Given the description of an element on the screen output the (x, y) to click on. 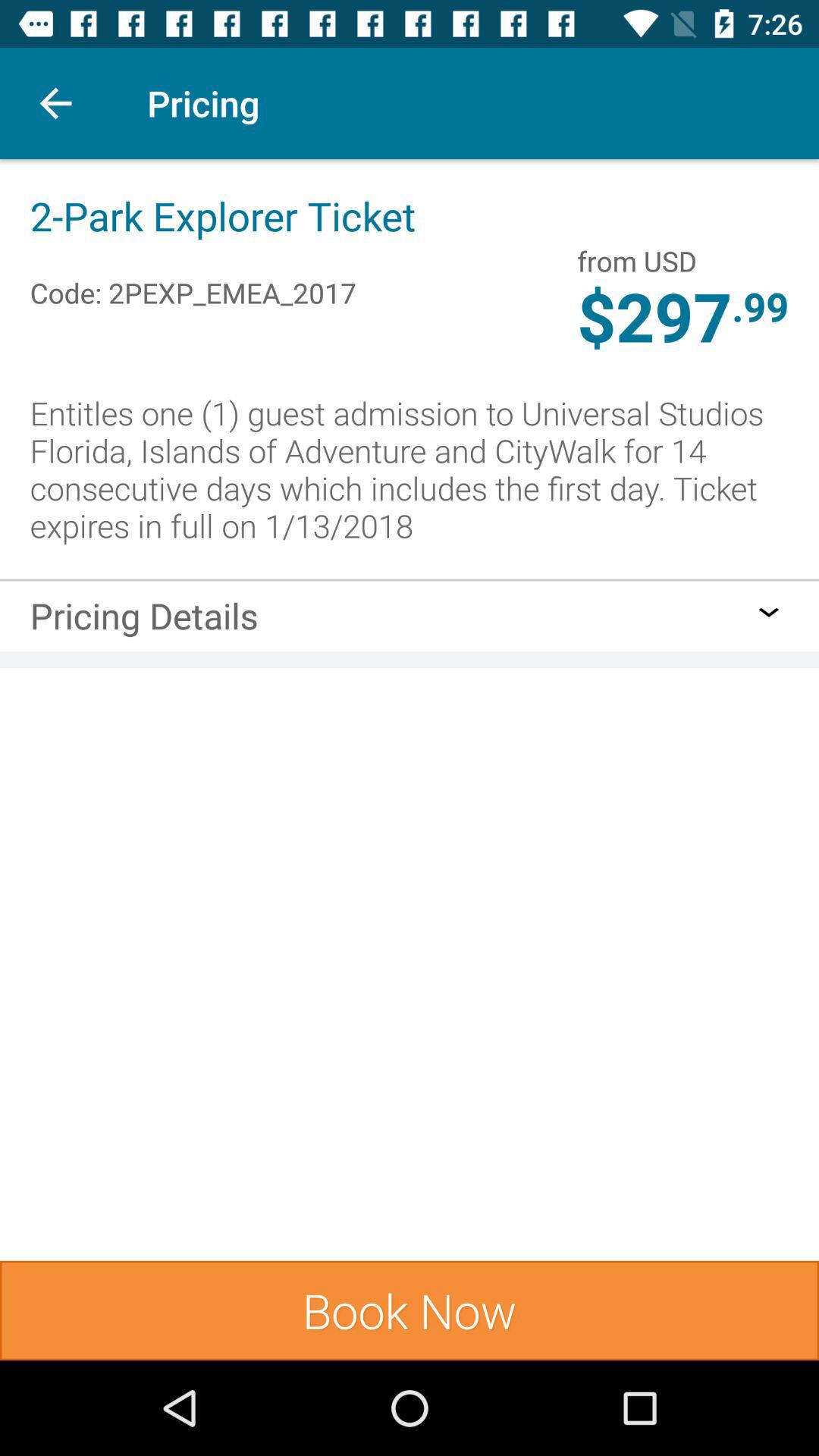
turn off the entitles one 1 at the top (409, 468)
